Given the description of an element on the screen output the (x, y) to click on. 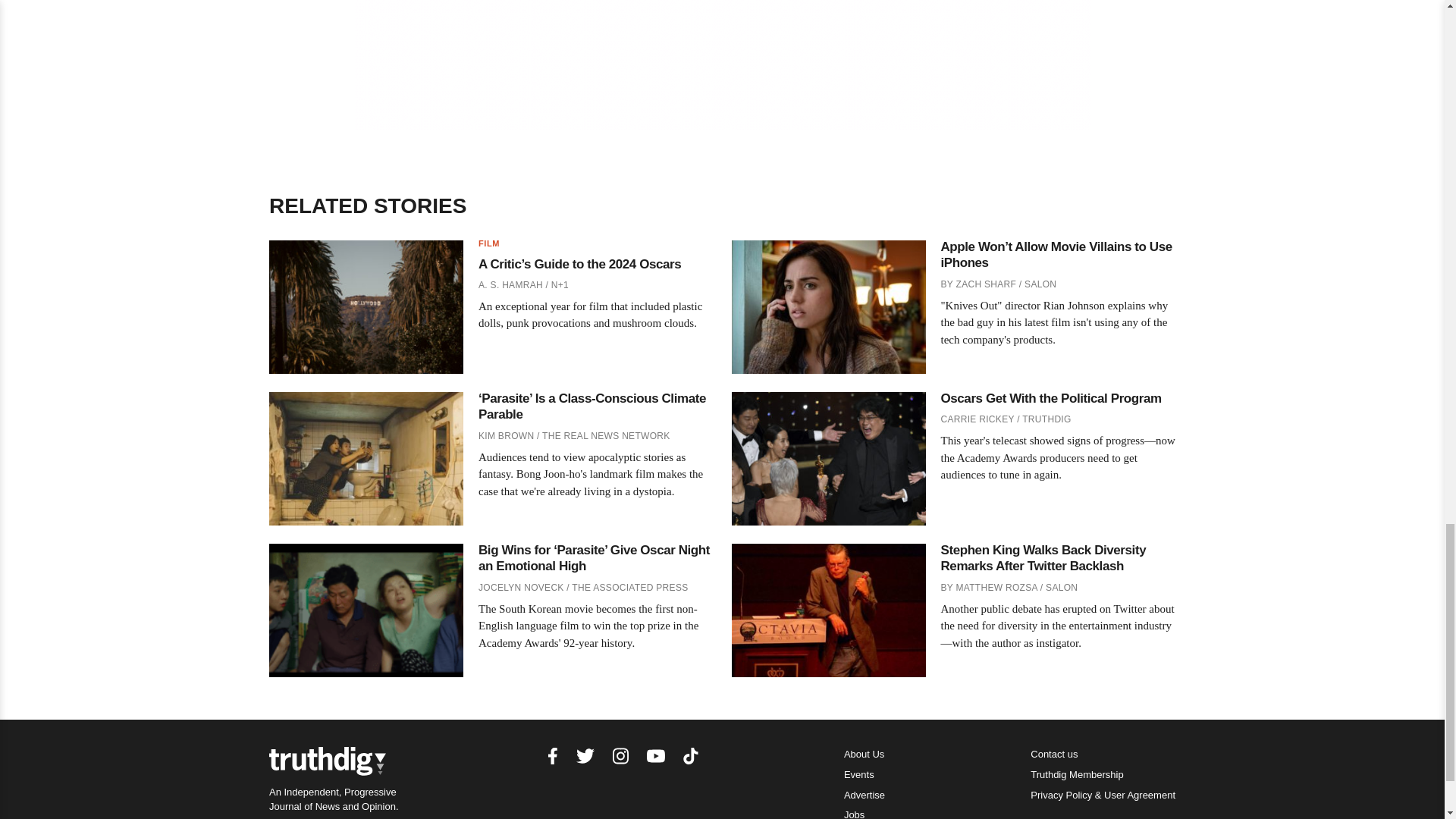
3rd party ad content (722, 64)
